Given the description of an element on the screen output the (x, y) to click on. 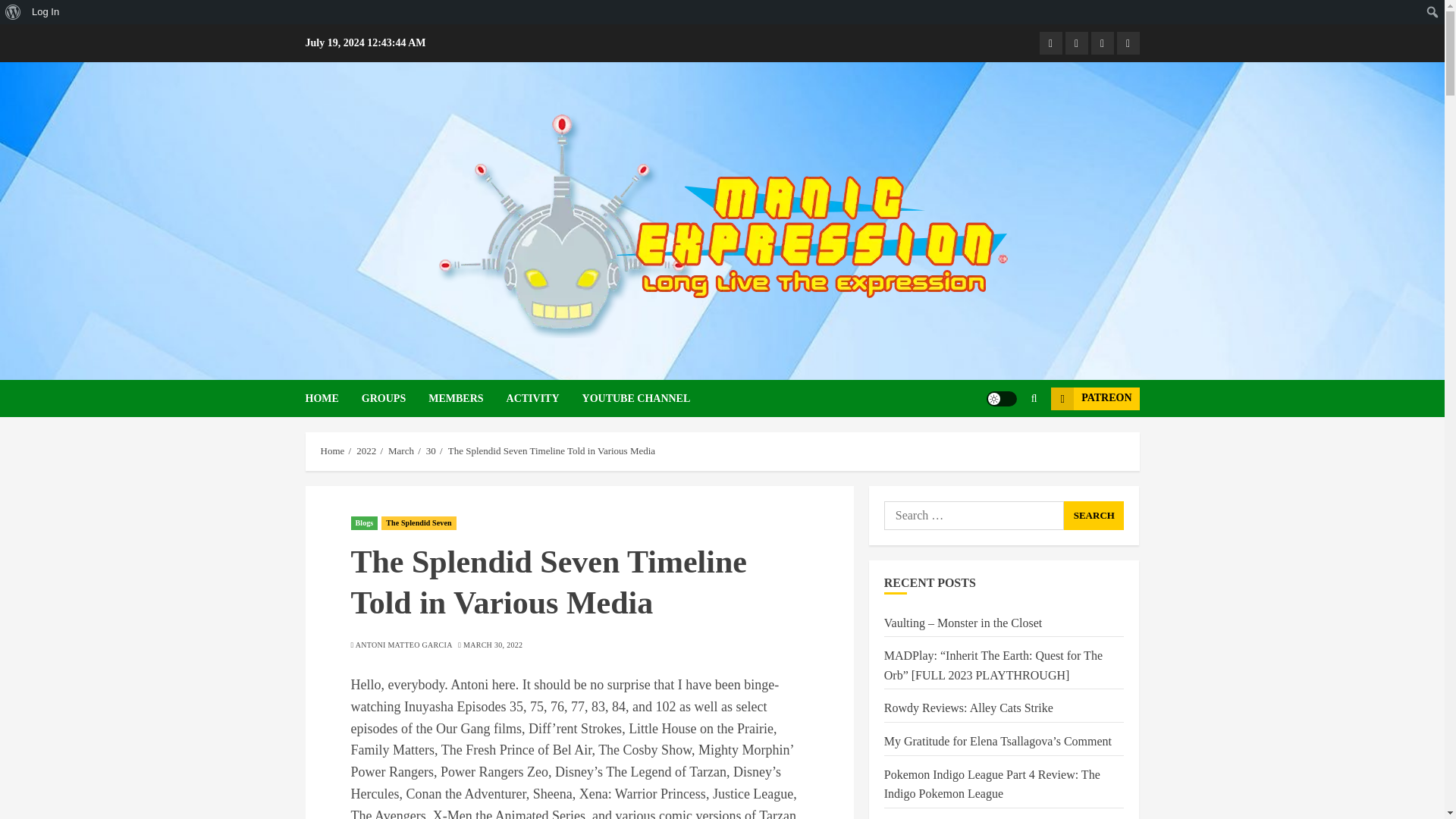
Search (1094, 515)
The Splendid Seven Timeline Told in Various Media (551, 451)
MEMBERS (466, 398)
Twitter (1127, 42)
Manic Expression Youtube channel (1075, 42)
The Splendid Seven (418, 522)
Search (15, 12)
Search (1094, 515)
PATREON (1094, 397)
HOME (332, 398)
Facebook page (1050, 42)
ACTIVITY (544, 398)
MARCH 30, 2022 (492, 644)
2022 (365, 451)
ANTONI MATTEO GARCIA (403, 644)
